Given the description of an element on the screen output the (x, y) to click on. 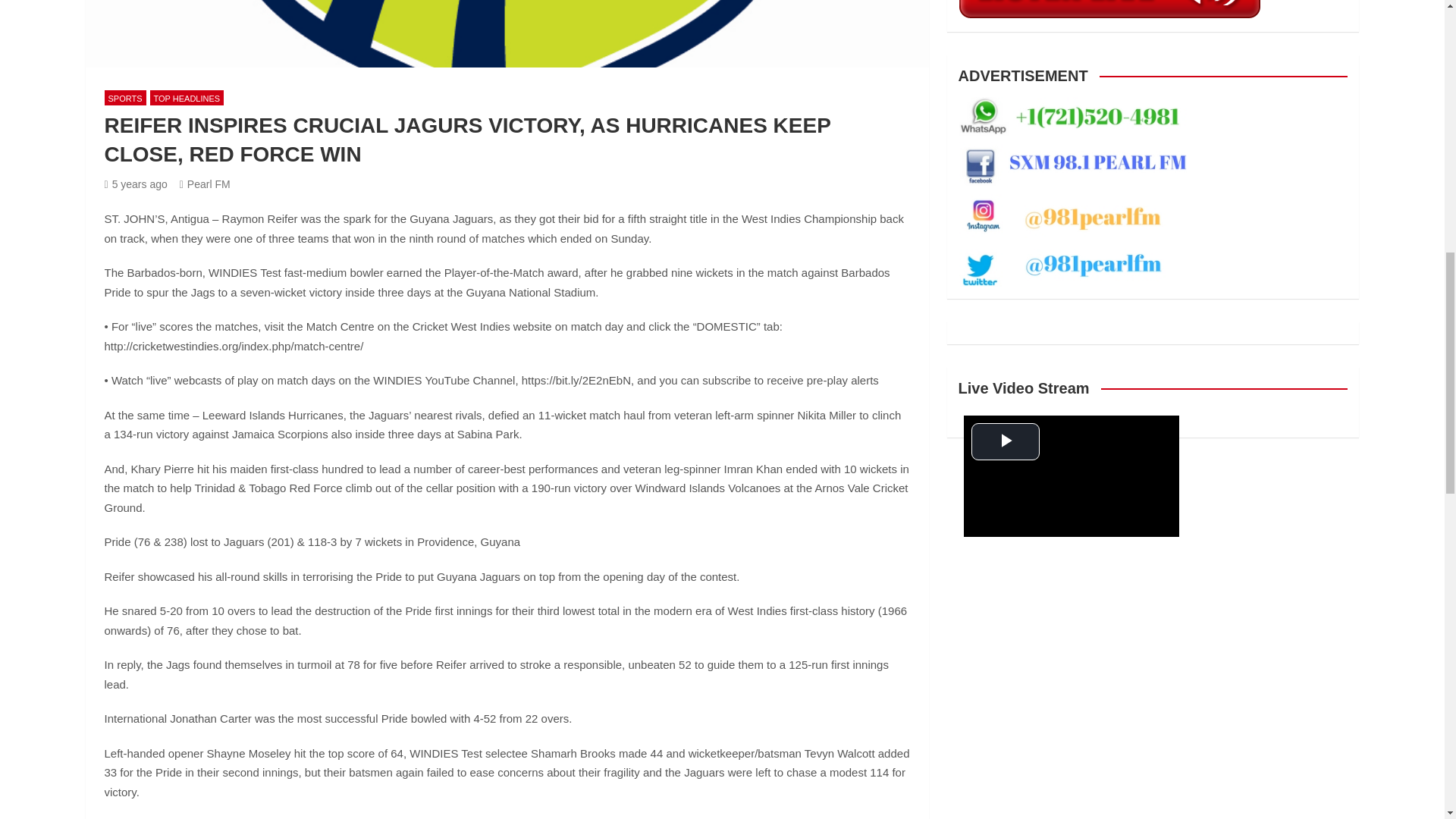
SPORTS (125, 98)
TOP HEADLINES (186, 98)
Pearl FM (204, 184)
5 years ago (135, 184)
